Given the description of an element on the screen output the (x, y) to click on. 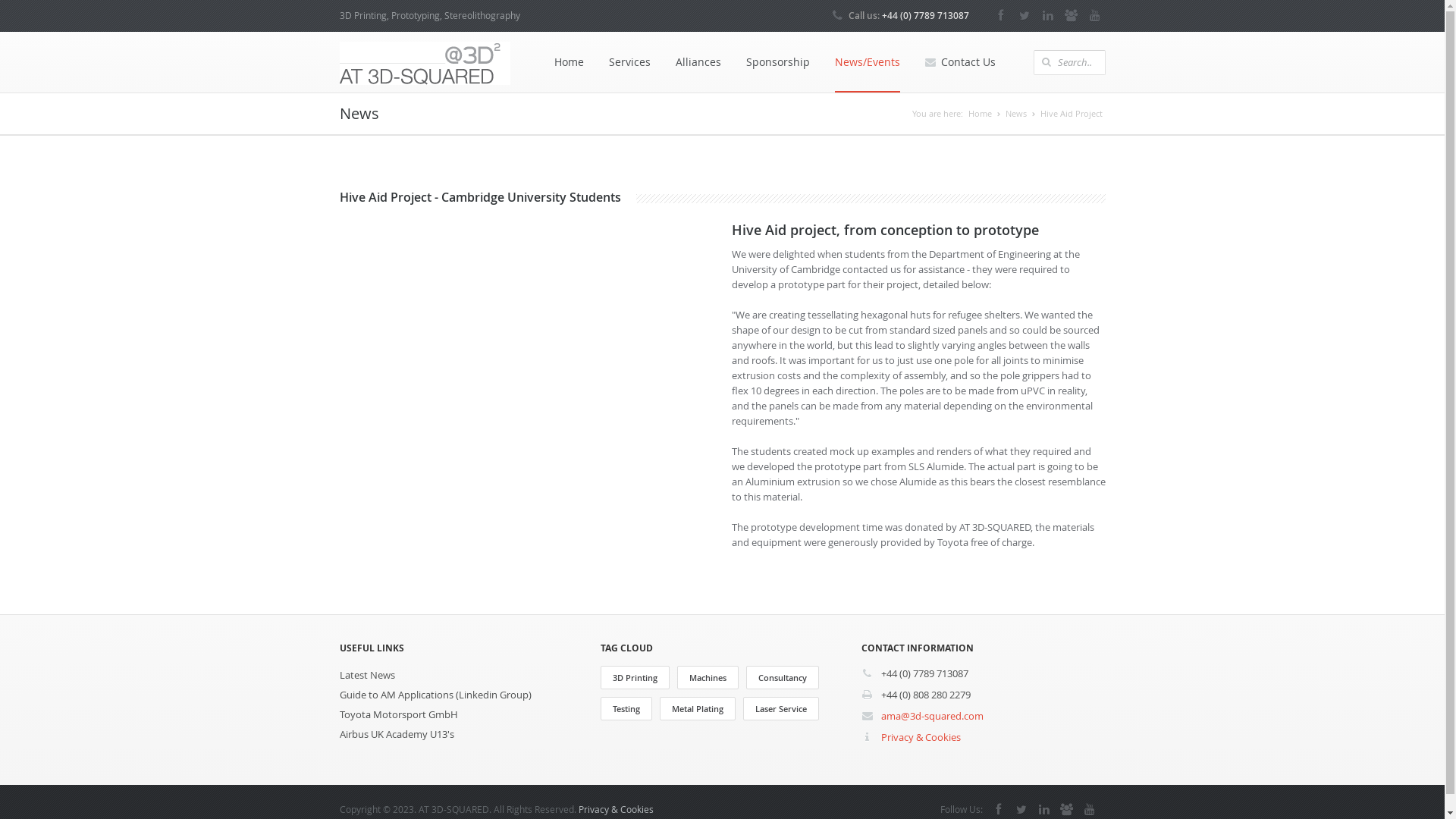
Metal Plating Element type: text (697, 708)
Home Element type: text (979, 113)
Consultancy Element type: text (782, 677)
Hive Aid Project Element type: text (1071, 113)
News/Events Element type: text (867, 61)
Laser Service Element type: text (781, 708)
Machines Element type: text (706, 677)
Toyota Motorsport GmbH Element type: text (460, 714)
Services Element type: text (629, 61)
+44 (0) 7789 713087 Element type: text (924, 673)
Privacy & Cookies Element type: text (614, 809)
Contact Us Element type: text (959, 61)
Privacy & Cookies Element type: text (920, 736)
Latest News Element type: text (460, 674)
Guide to AM Applications (Linkedin Group) Element type: text (460, 694)
Home Element type: text (568, 61)
Airbus UK Academy U13's Element type: text (460, 733)
+44 (0) 808 280 2279 Element type: text (925, 694)
Sponsorship Element type: text (777, 61)
News Element type: text (1015, 113)
ama@3d-squared.com Element type: text (932, 715)
Alliances Element type: text (698, 61)
Testing Element type: text (626, 708)
3D Printing Element type: text (634, 677)
